Given the description of an element on the screen output the (x, y) to click on. 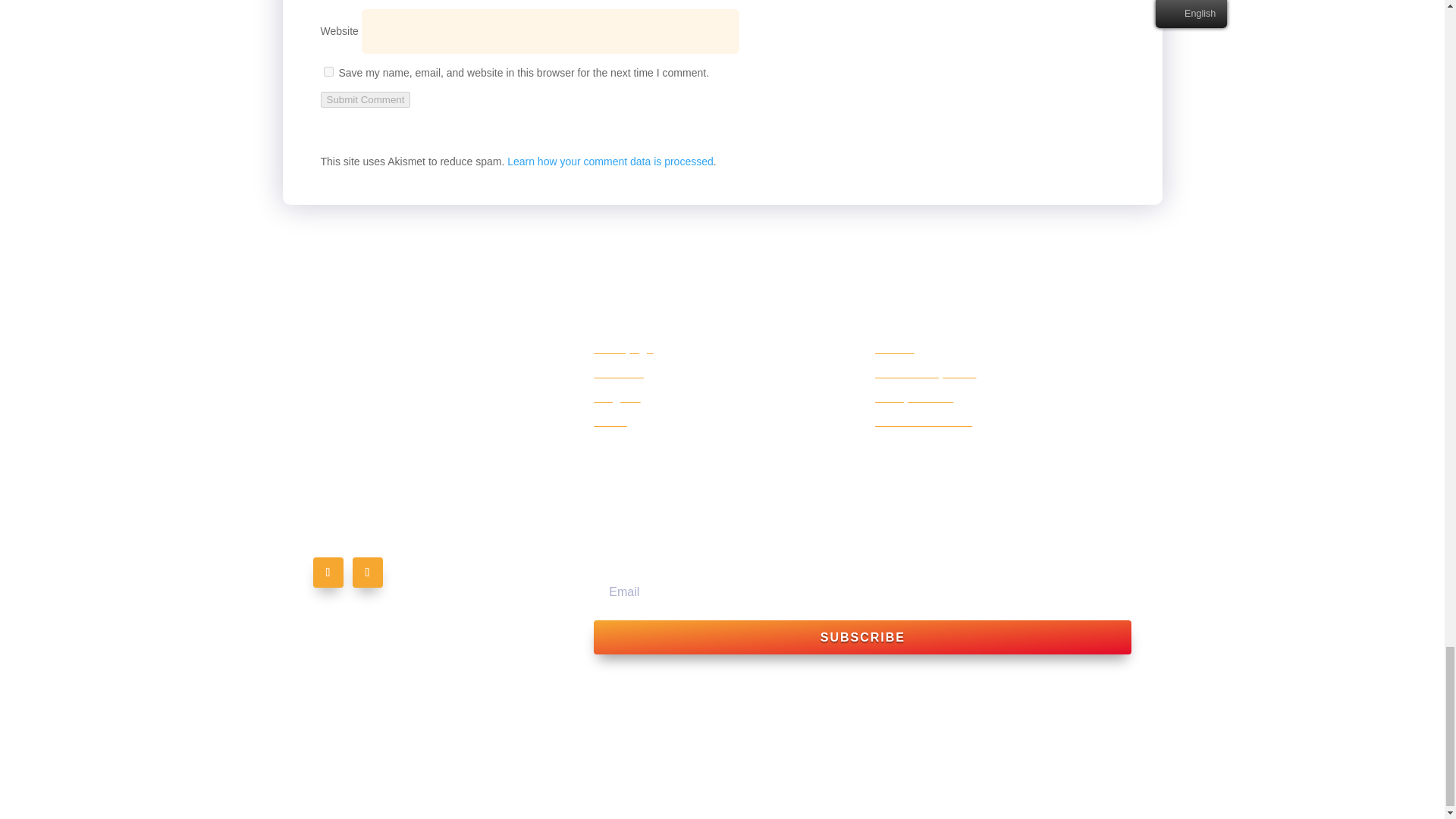
yes (328, 71)
Follow on Facebook (327, 572)
Follow on Instagram (366, 572)
